Given the description of an element on the screen output the (x, y) to click on. 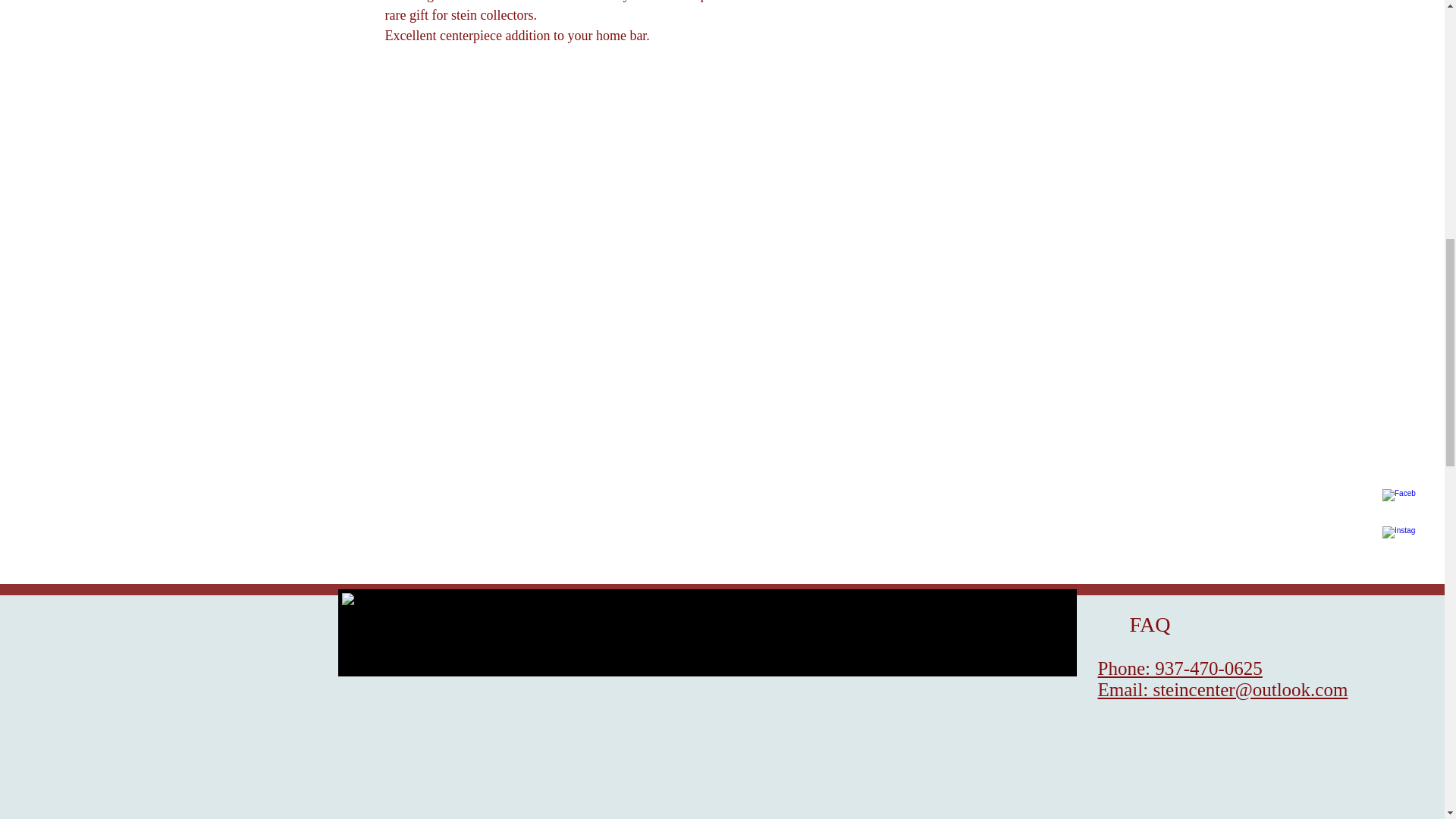
Phone: 937-470-0625 (1179, 668)
      FAQ (1133, 624)
